Given the description of an element on the screen output the (x, y) to click on. 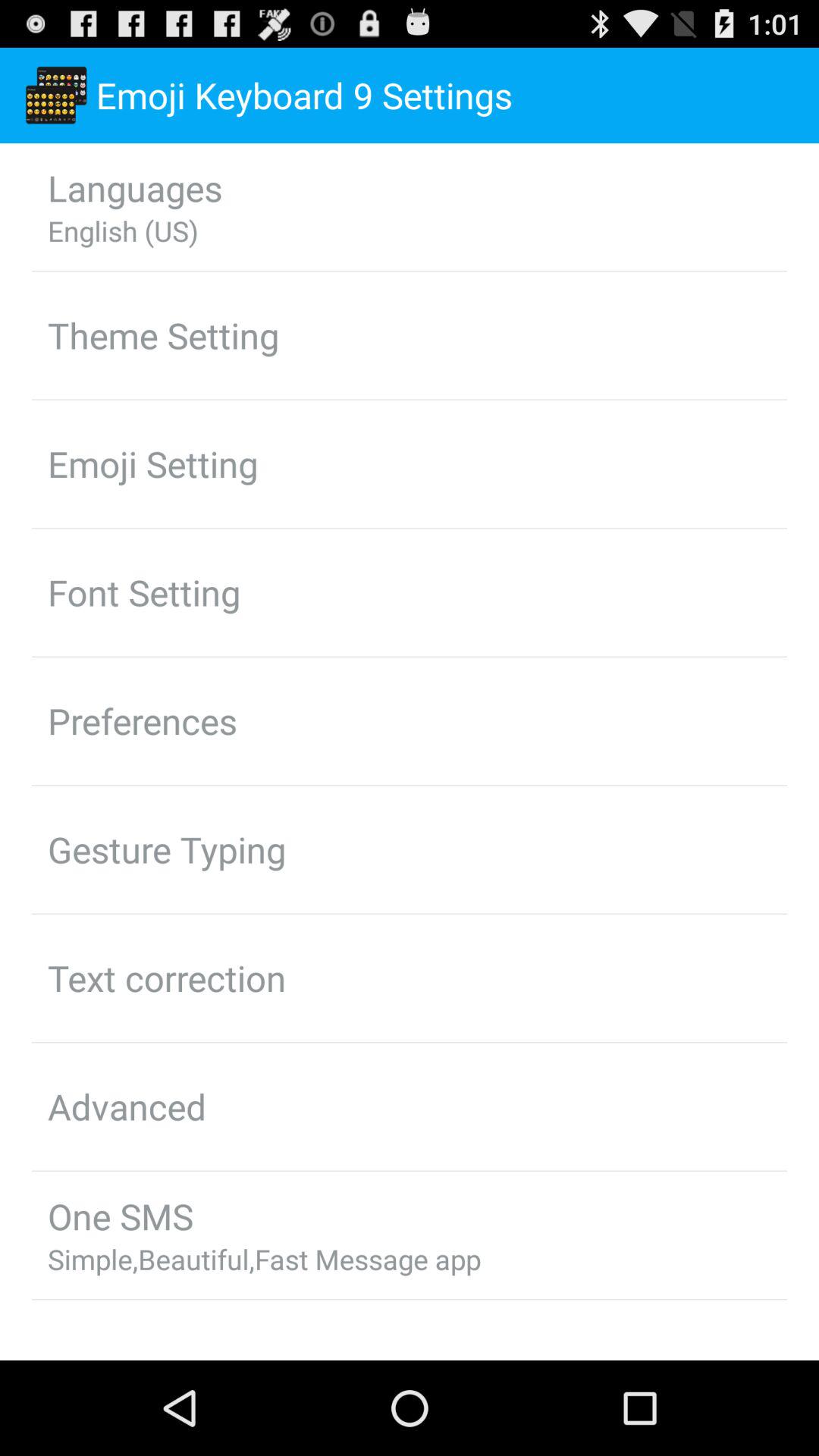
launch item below gesture typing icon (166, 977)
